Given the description of an element on the screen output the (x, y) to click on. 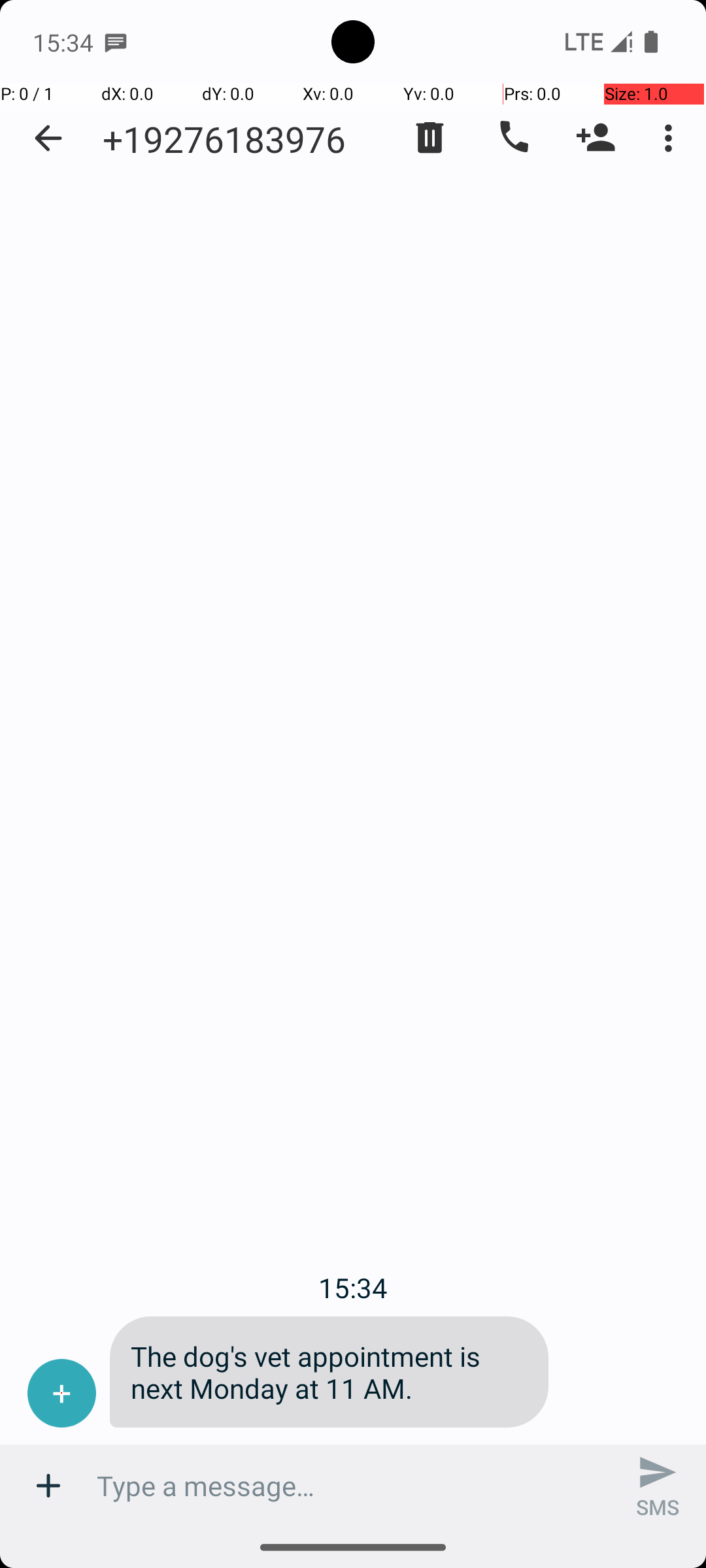
+19276183976 Element type: android.widget.TextView (223, 138)
Dial number Element type: android.widget.Button (512, 137)
Add Person Element type: android.widget.Button (595, 137)
Attachment Element type: android.widget.ImageView (48, 1485)
Type a message… Element type: android.widget.EditText (352, 1485)
SMS Element type: android.widget.Button (657, 1485)
The dog's vet appointment is next Monday at 11 AM. Element type: android.widget.TextView (328, 1371)
